Given the description of an element on the screen output the (x, y) to click on. 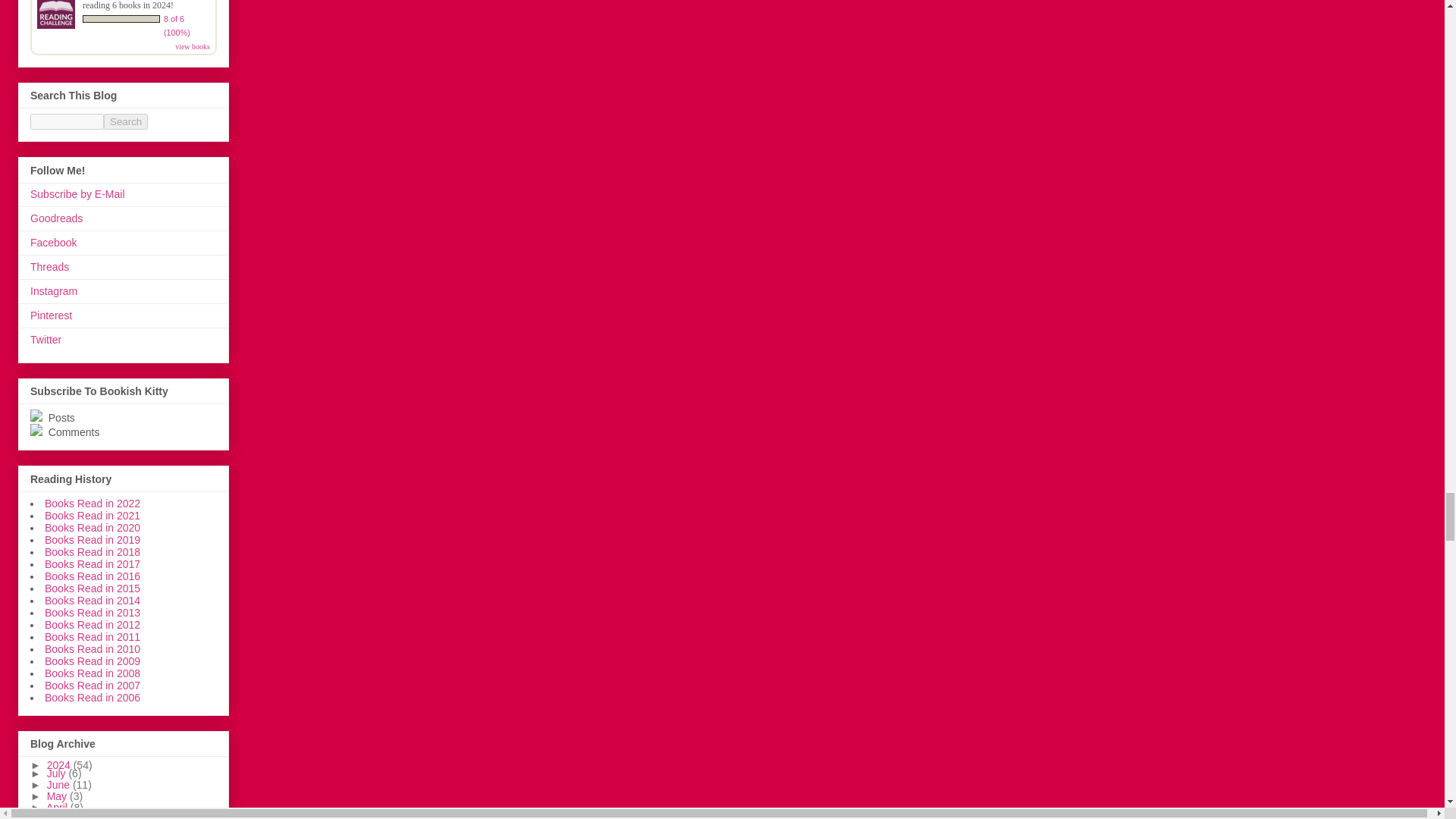
search (125, 121)
search (66, 121)
Search (125, 121)
Search (125, 121)
